Given the description of an element on the screen output the (x, y) to click on. 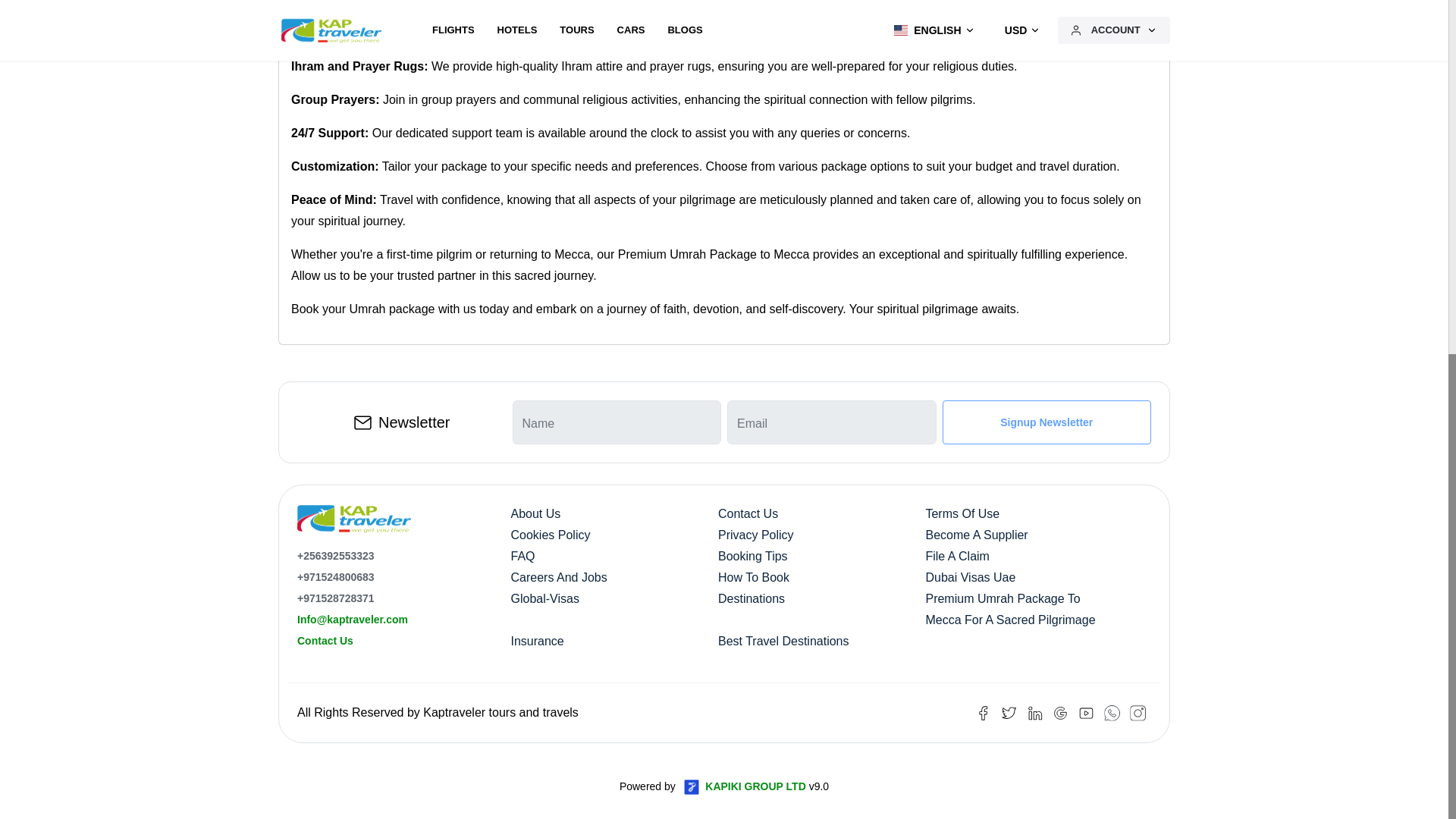
Careers And Jobs (559, 576)
Booking Tips (752, 555)
Contact Us (747, 513)
File A Claim (956, 555)
Contact Us (325, 640)
Terms Of Use (961, 513)
Cookies Policy (551, 534)
About Us (535, 513)
How To Book (753, 576)
FAQ (523, 555)
Privacy Policy (755, 534)
Signup Newsletter (1046, 422)
Become A Supplier (975, 534)
